Given the description of an element on the screen output the (x, y) to click on. 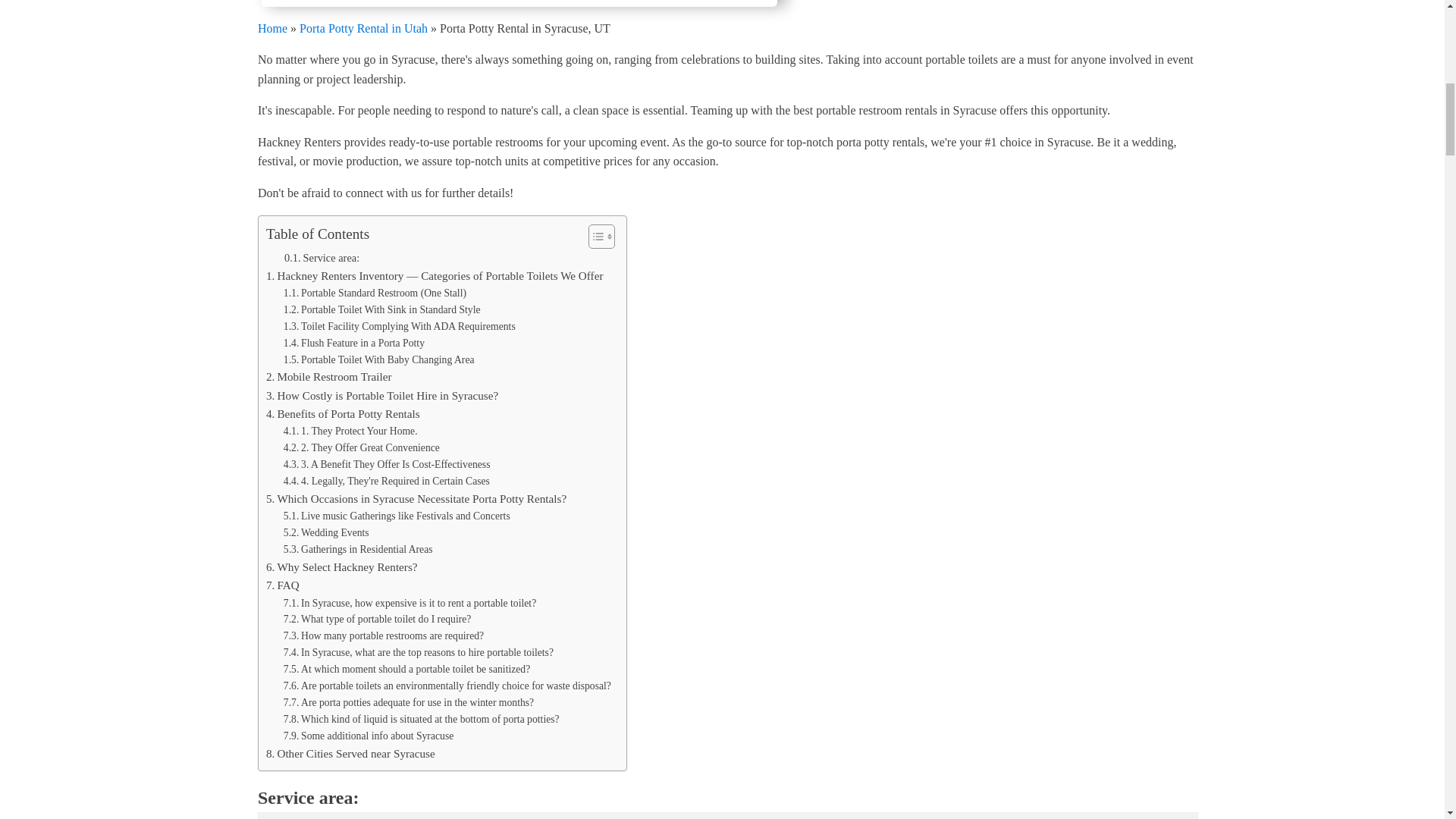
Portable Toilet With Sink in Standard Style (381, 310)
Toilet Facility Complying With ADA Requirements (399, 326)
Porta Potty Rental in Utah (363, 27)
How Costly is Portable Toilet Hire in Syracuse? (381, 395)
Live music Gatherings like Festivals and Concerts (397, 515)
Toilet Facility Complying With ADA Requirements (399, 326)
Portable Toilet With Baby Changing Area (378, 360)
Portable Toilet With Sink in Standard Style (381, 310)
Service area: (321, 257)
Portable Toilet With Baby Changing Area (378, 360)
